Given the description of an element on the screen output the (x, y) to click on. 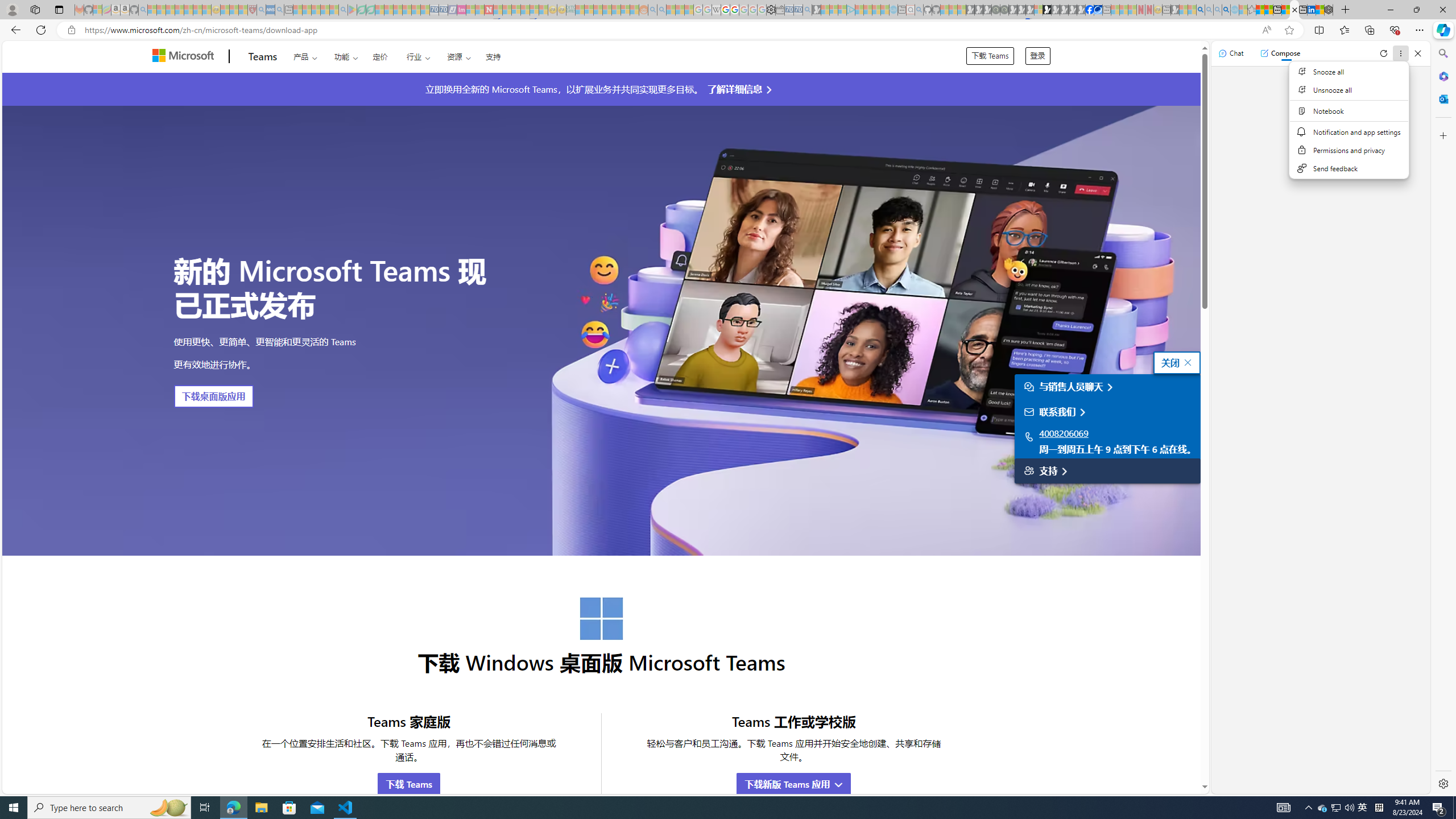
Utah sues federal government - Search - Sleeping (661, 9)
